Given the description of an element on the screen output the (x, y) to click on. 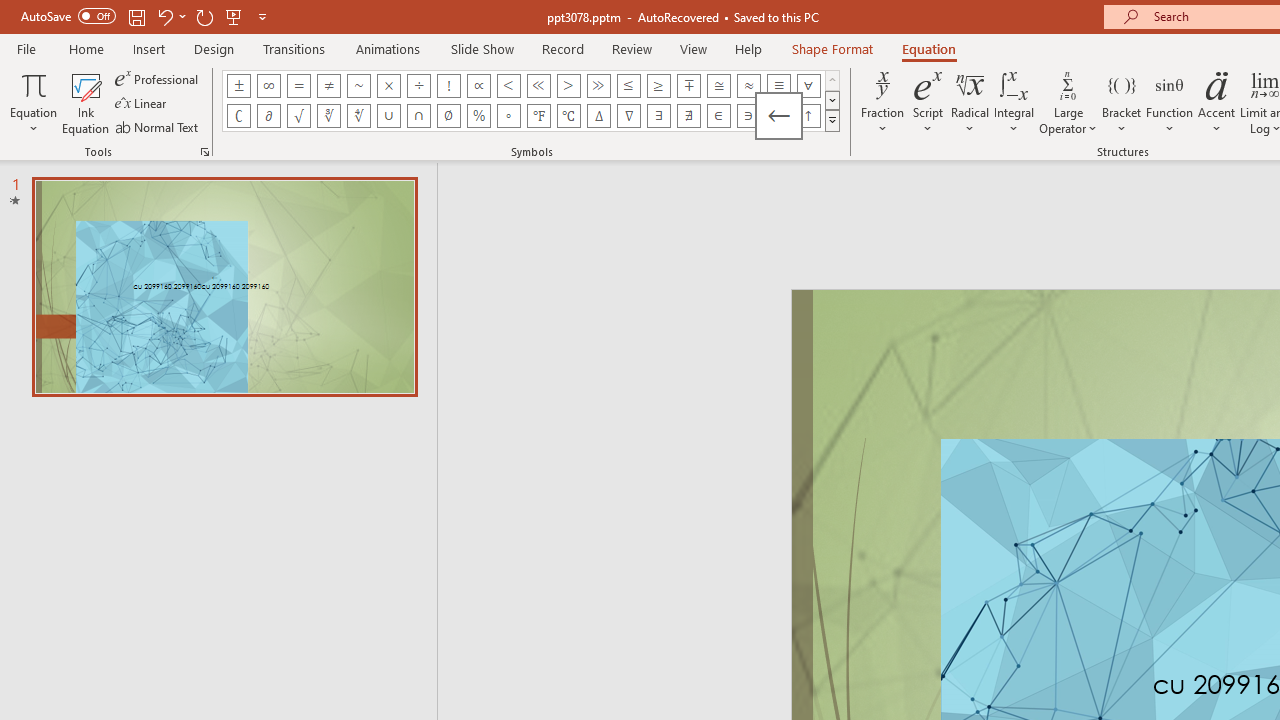
Equation Symbol Degrees Celsius (568, 115)
Equation Symbol Less Than (508, 85)
AutomationID: EquationSymbolsInsertGallery (532, 100)
Equation Symbol Up Arrow (808, 115)
Equation Symbol Plus Minus (238, 85)
Shape Format (832, 48)
Equation Symbol Factorial (448, 85)
Equation Symbol Contains as Member (748, 115)
Radical (970, 102)
Equation Symbol Degrees (508, 115)
Equation (928, 48)
